Given the description of an element on the screen output the (x, y) to click on. 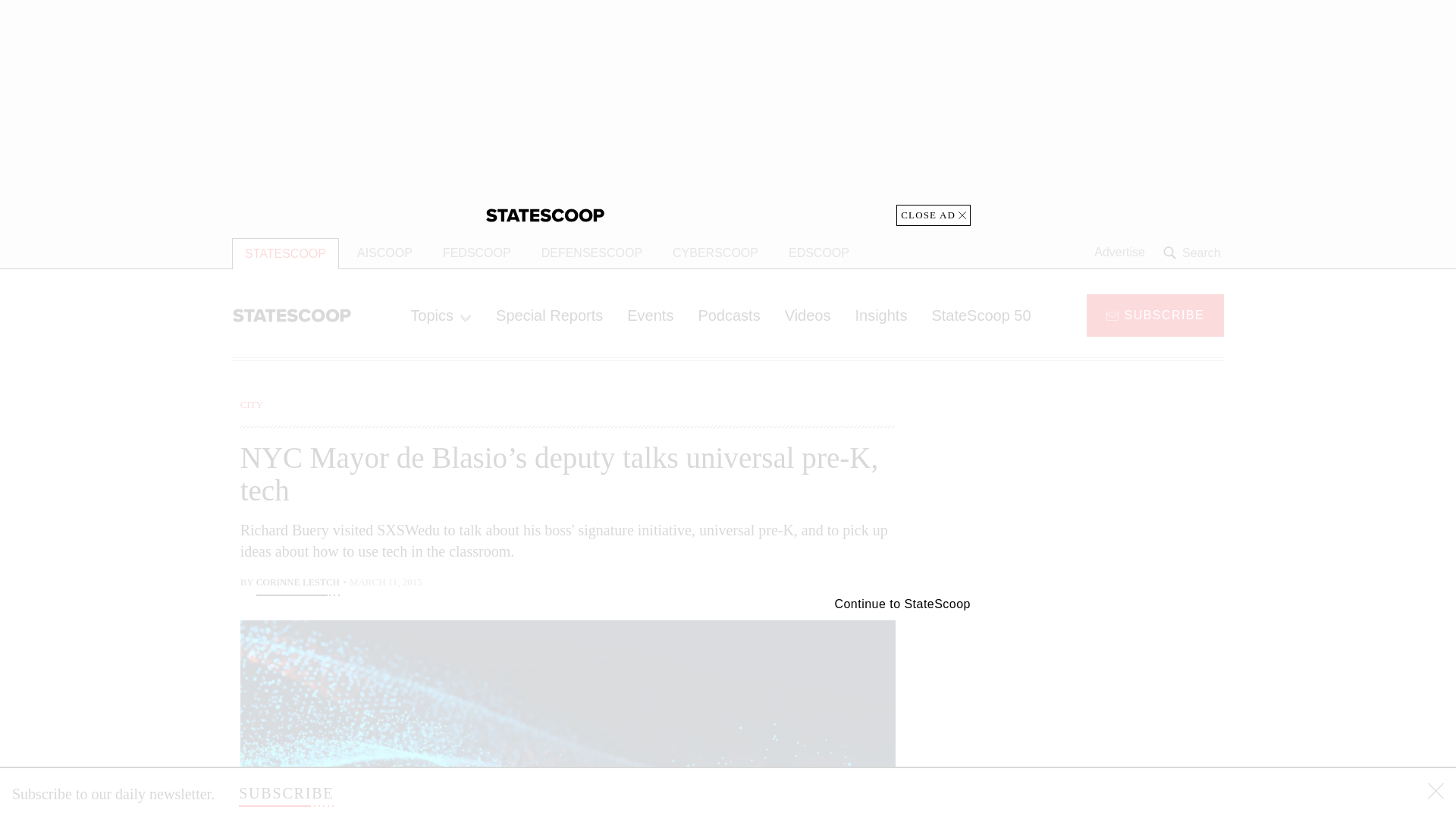
StateScoop 50 (980, 315)
FEDSCOOP (476, 253)
Corinne Lestch (297, 583)
CITY (251, 404)
SUBSCRIBE (1155, 314)
3rd party ad content (1101, 705)
Special Reports (548, 315)
Advertise (1119, 252)
AISCOOP (385, 253)
